Given the description of an element on the screen output the (x, y) to click on. 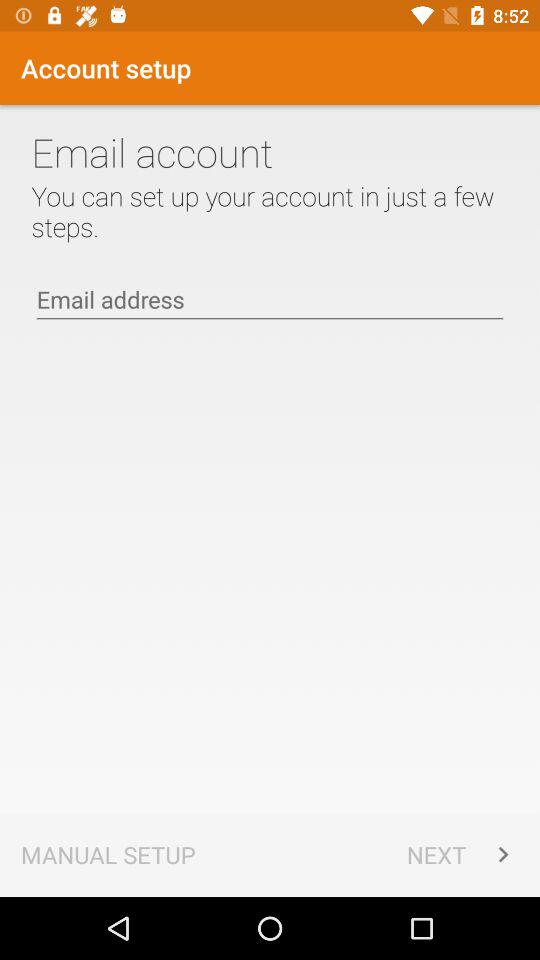
open the app next to next (108, 854)
